Given the description of an element on the screen output the (x, y) to click on. 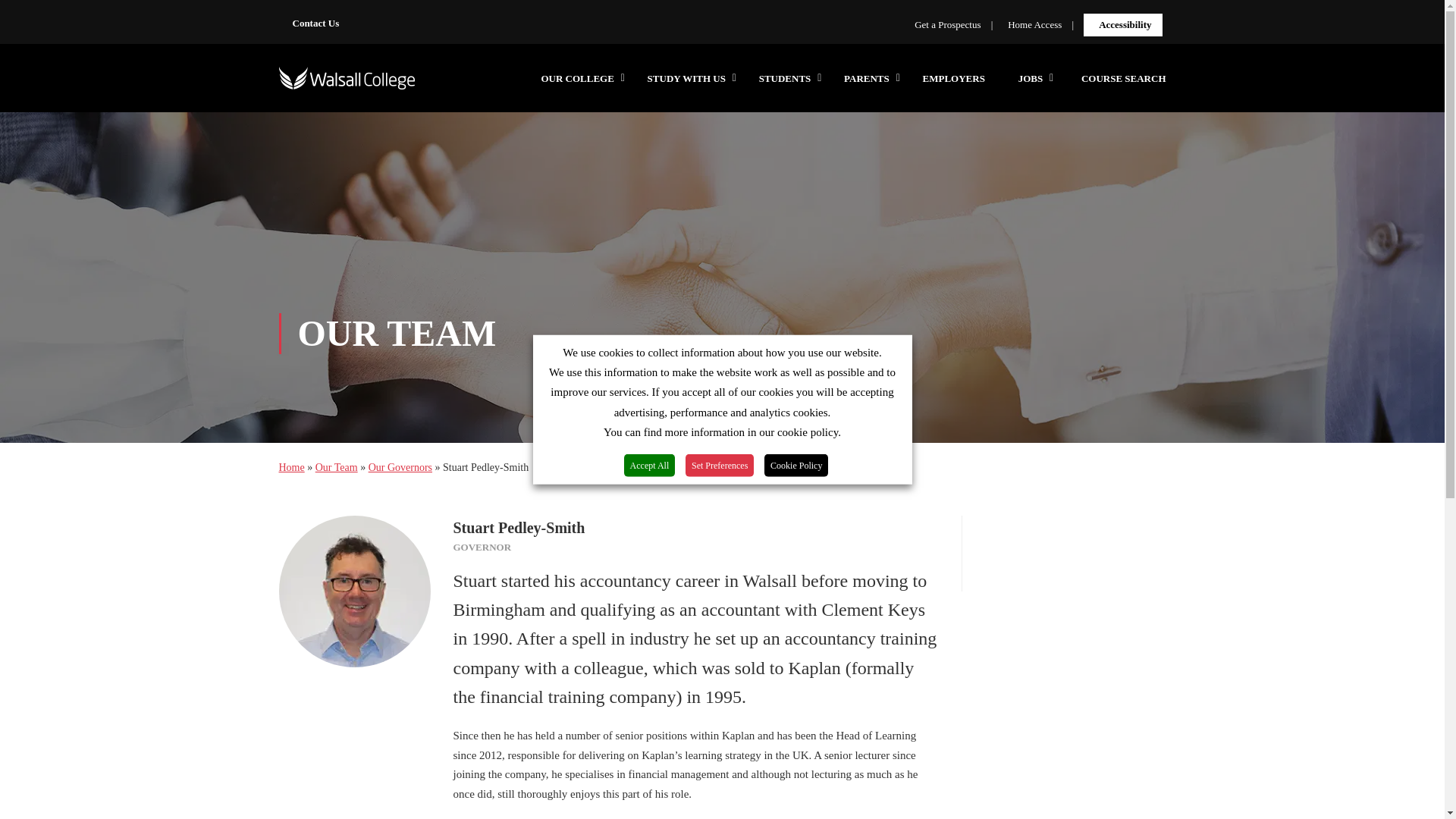
Walsall College -  (346, 85)
Stuart Pedley-Smith (354, 591)
